Given the description of an element on the screen output the (x, y) to click on. 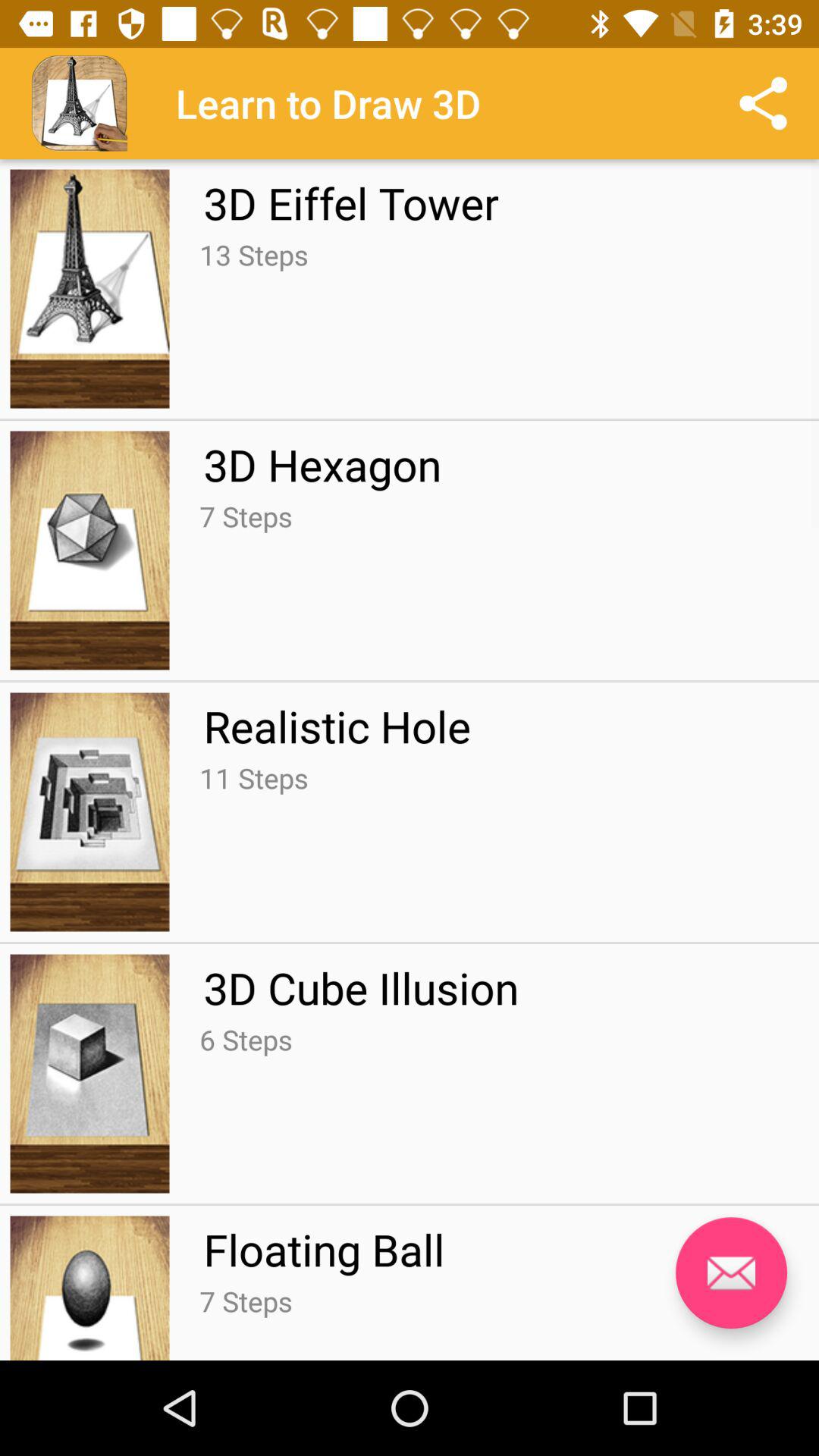
choose the floating ball icon (323, 1248)
